Given the description of an element on the screen output the (x, y) to click on. 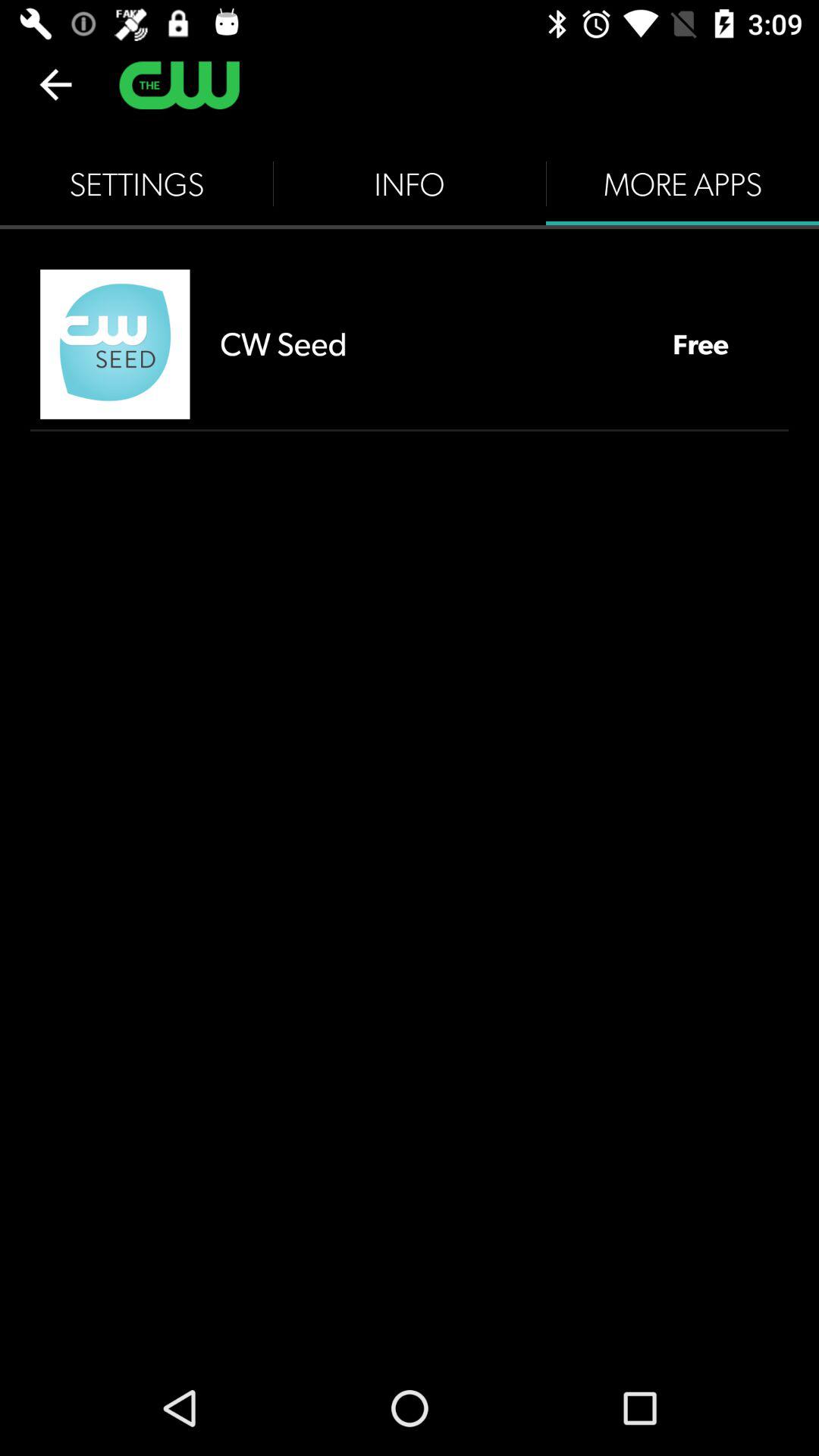
open the more apps item (682, 184)
